Given the description of an element on the screen output the (x, y) to click on. 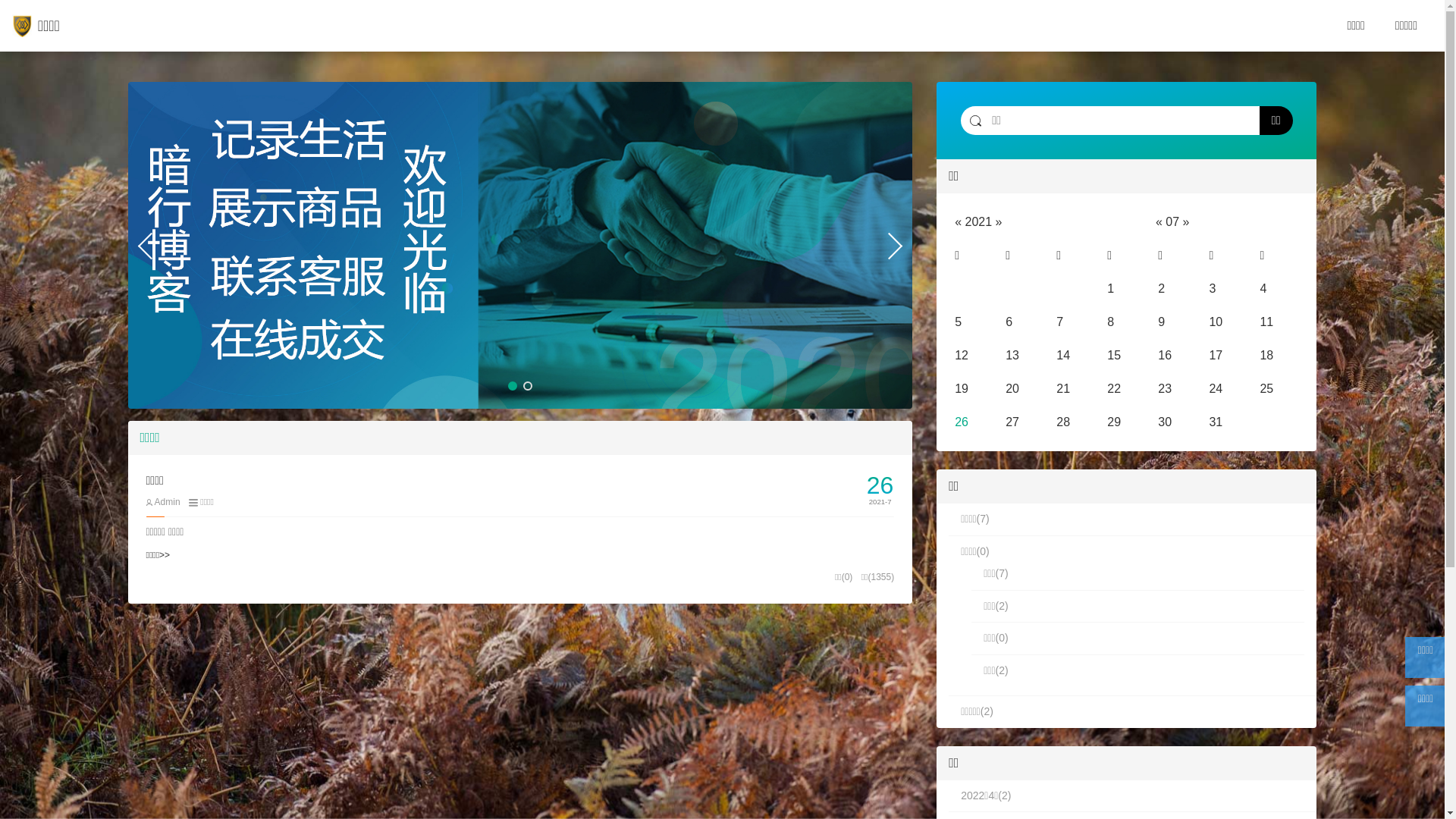
Admin Element type: text (162, 501)
26 Element type: text (961, 421)
